Given the description of an element on the screen output the (x, y) to click on. 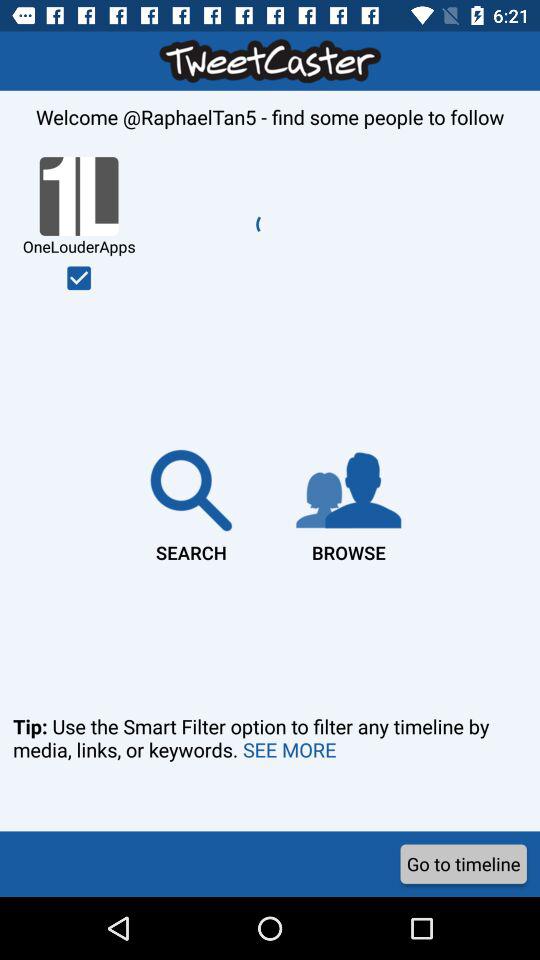
select item next to the browse item (191, 502)
